Given the description of an element on the screen output the (x, y) to click on. 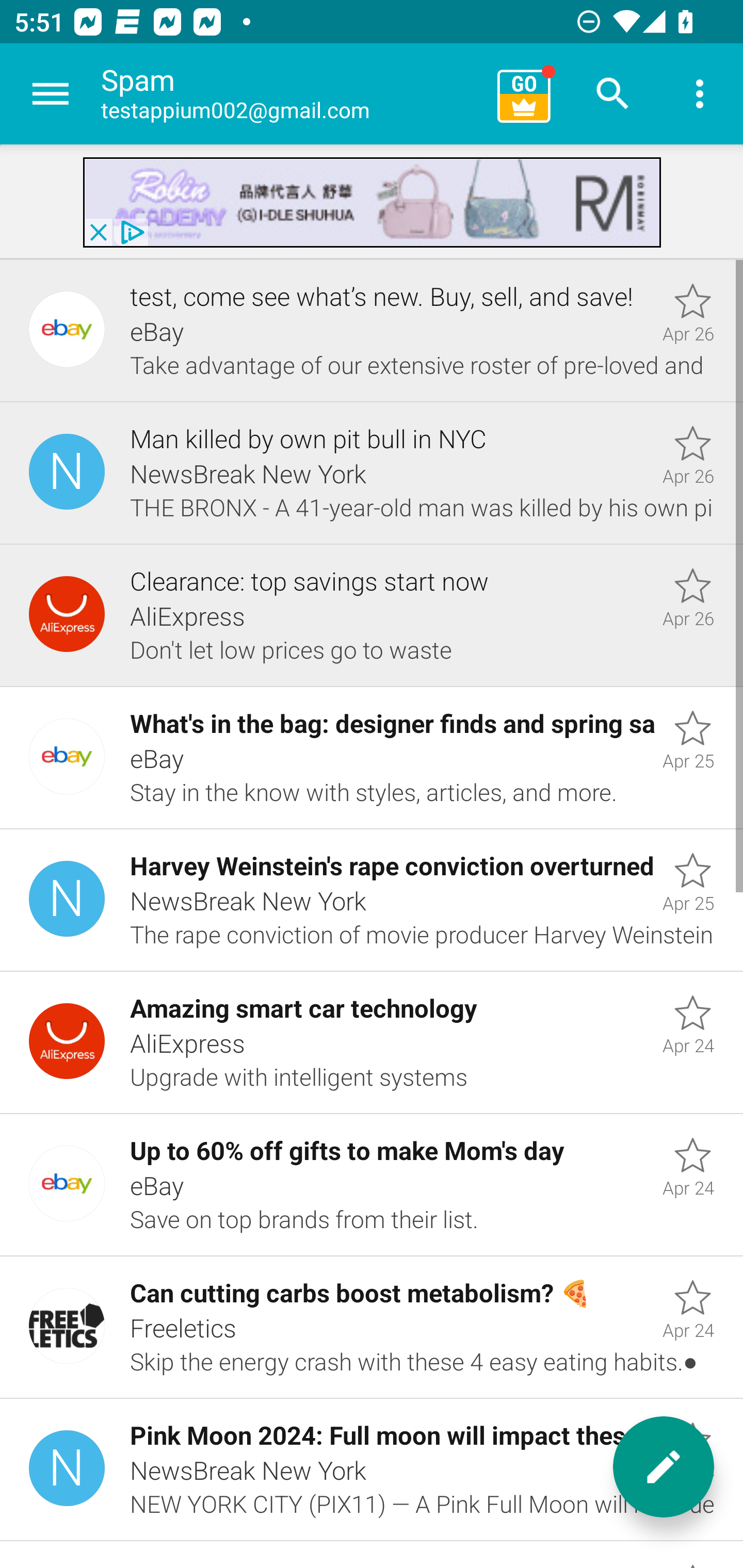
Navigate up (50, 93)
Spam testappium002@gmail.com (291, 93)
Search (612, 93)
More options (699, 93)
New message (663, 1466)
